Given the description of an element on the screen output the (x, y) to click on. 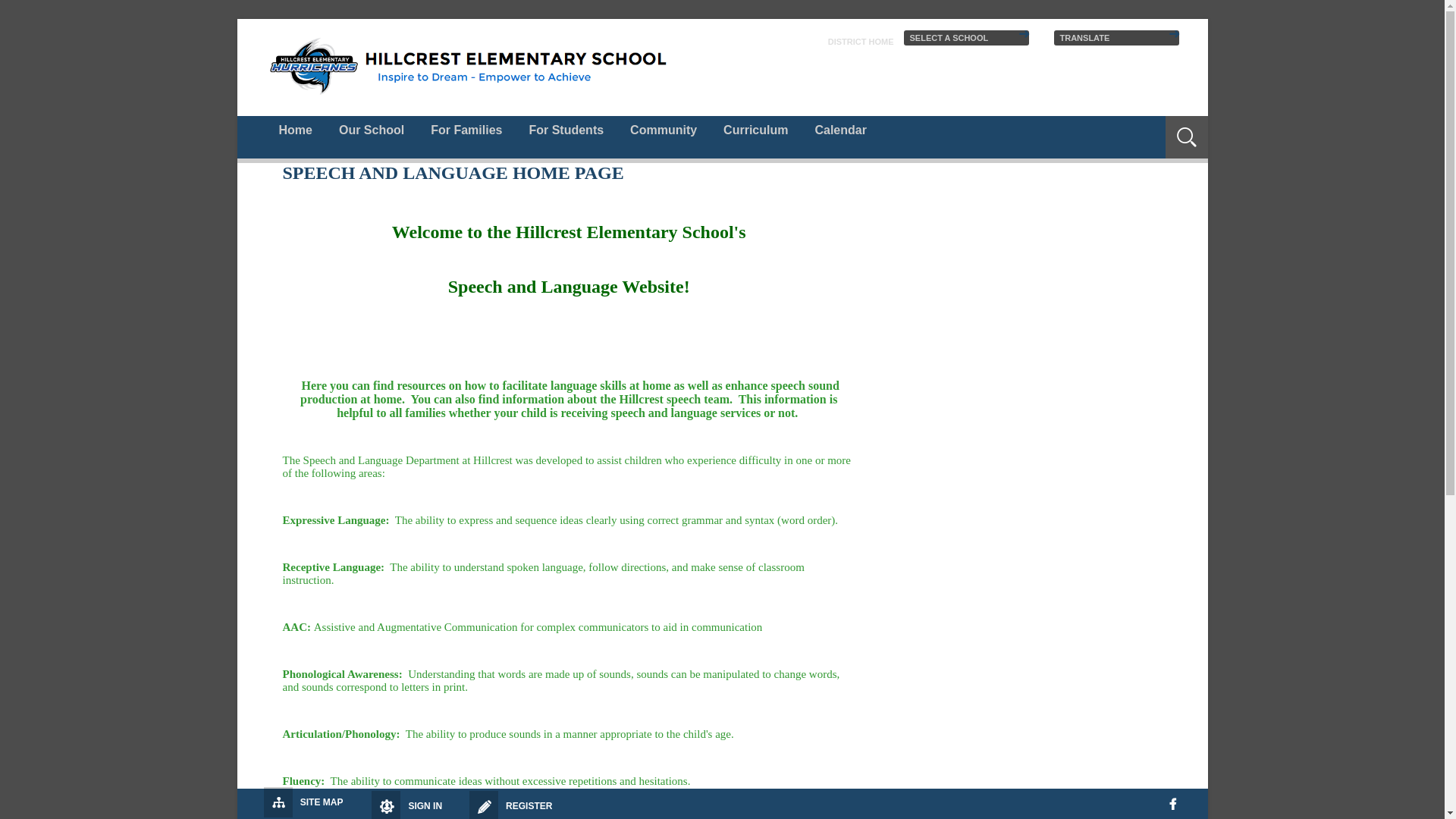
Return to the homepage on the district site. (860, 41)
Hillcrest Elementary School (470, 67)
For Families (466, 130)
Our School (370, 130)
Home (294, 130)
DISTRICT HOME (860, 41)
Search Term (1123, 127)
Search this site (1123, 127)
